Given the description of an element on the screen output the (x, y) to click on. 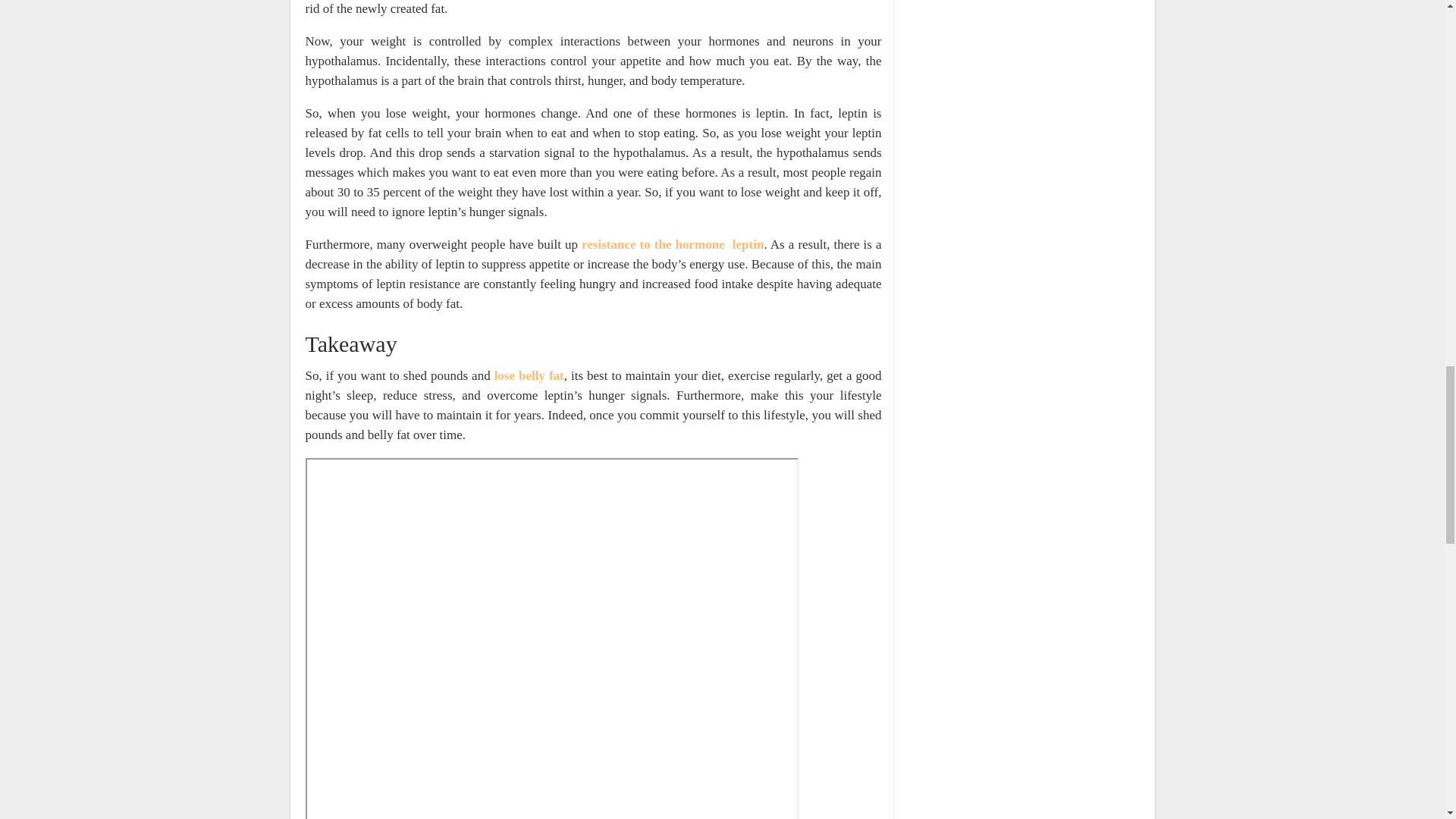
resistance to the hormone  leptin (671, 244)
lose belly fat (529, 375)
